Given the description of an element on the screen output the (x, y) to click on. 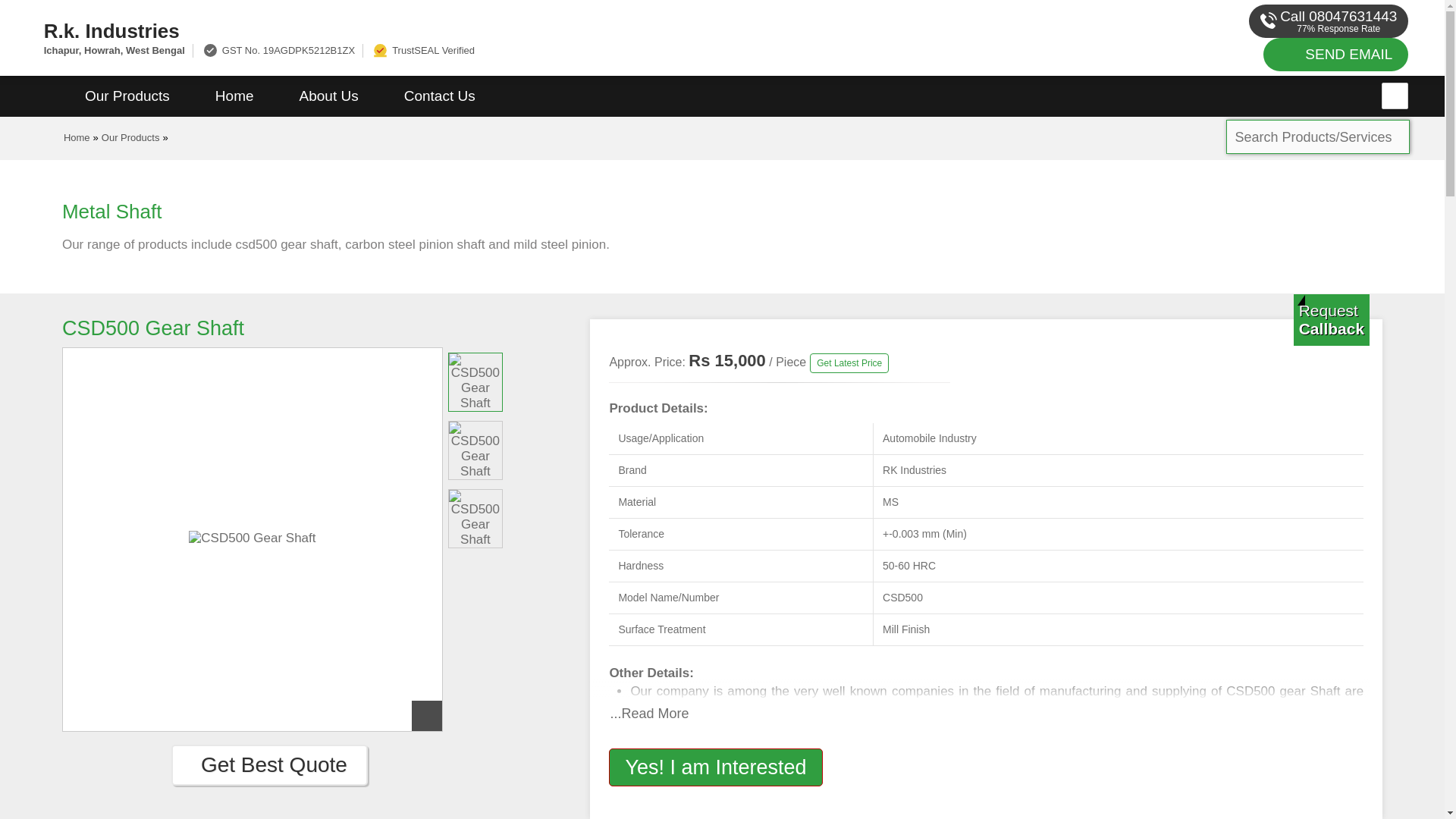
Get a Call from us (1332, 319)
Home (77, 137)
R.k. Industries (480, 31)
About Us (328, 96)
Our Products (127, 96)
Contact Us (439, 96)
Our Products (130, 137)
Home (234, 96)
